Given the description of an element on the screen output the (x, y) to click on. 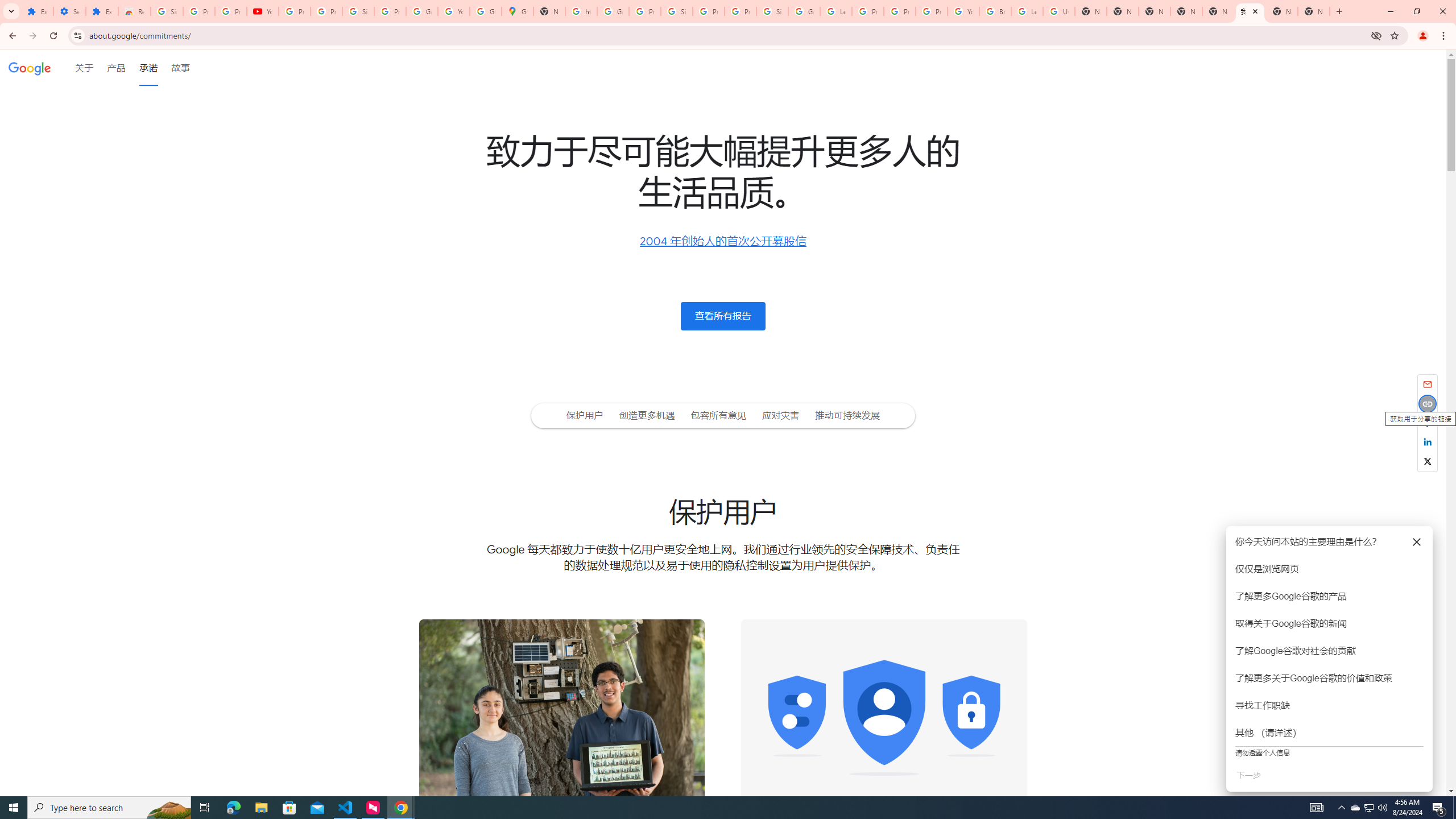
Google Maps (517, 11)
Privacy Help Center - Policies Help (899, 11)
